Given the description of an element on the screen output the (x, y) to click on. 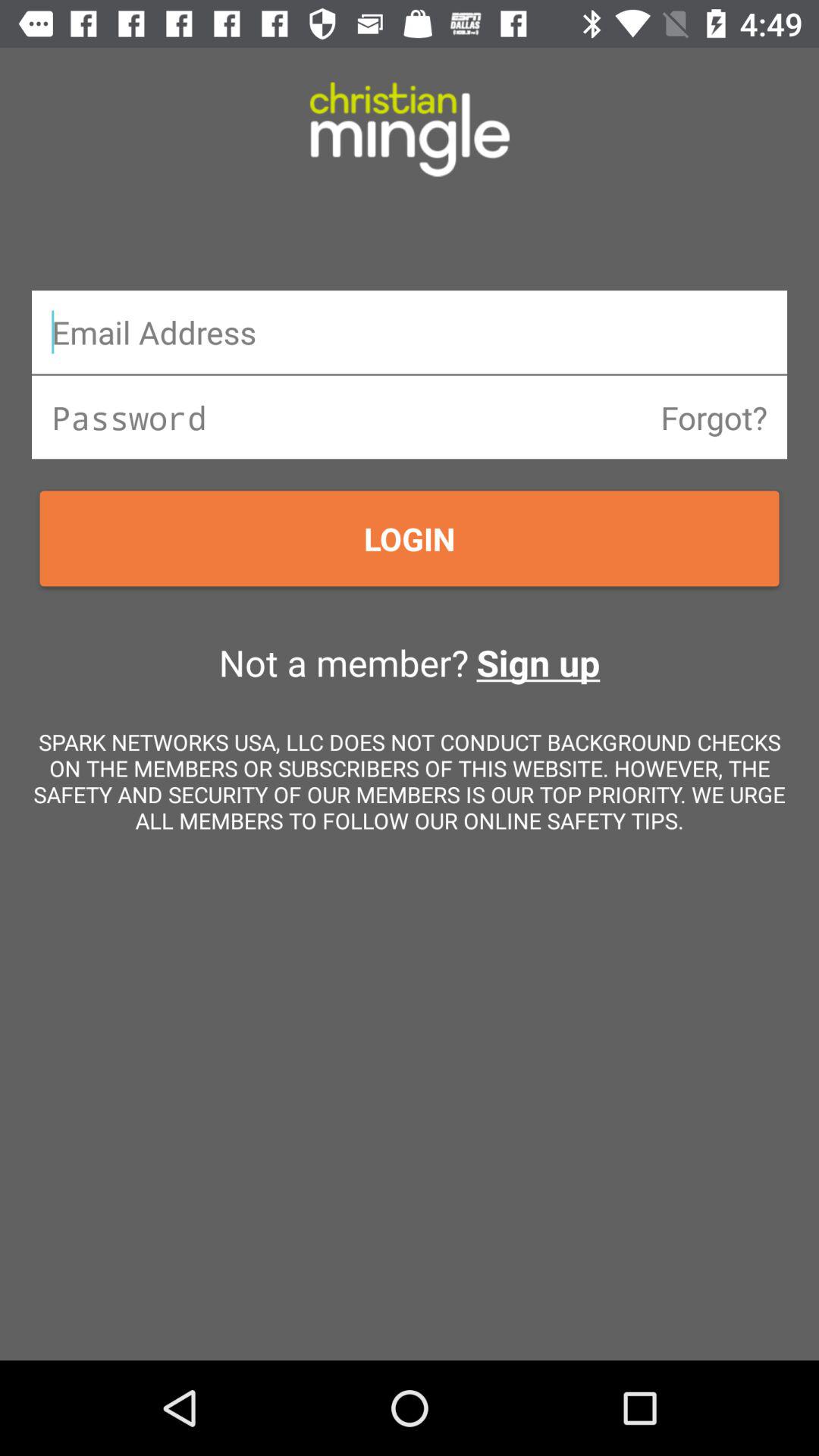
password (409, 416)
